Given the description of an element on the screen output the (x, y) to click on. 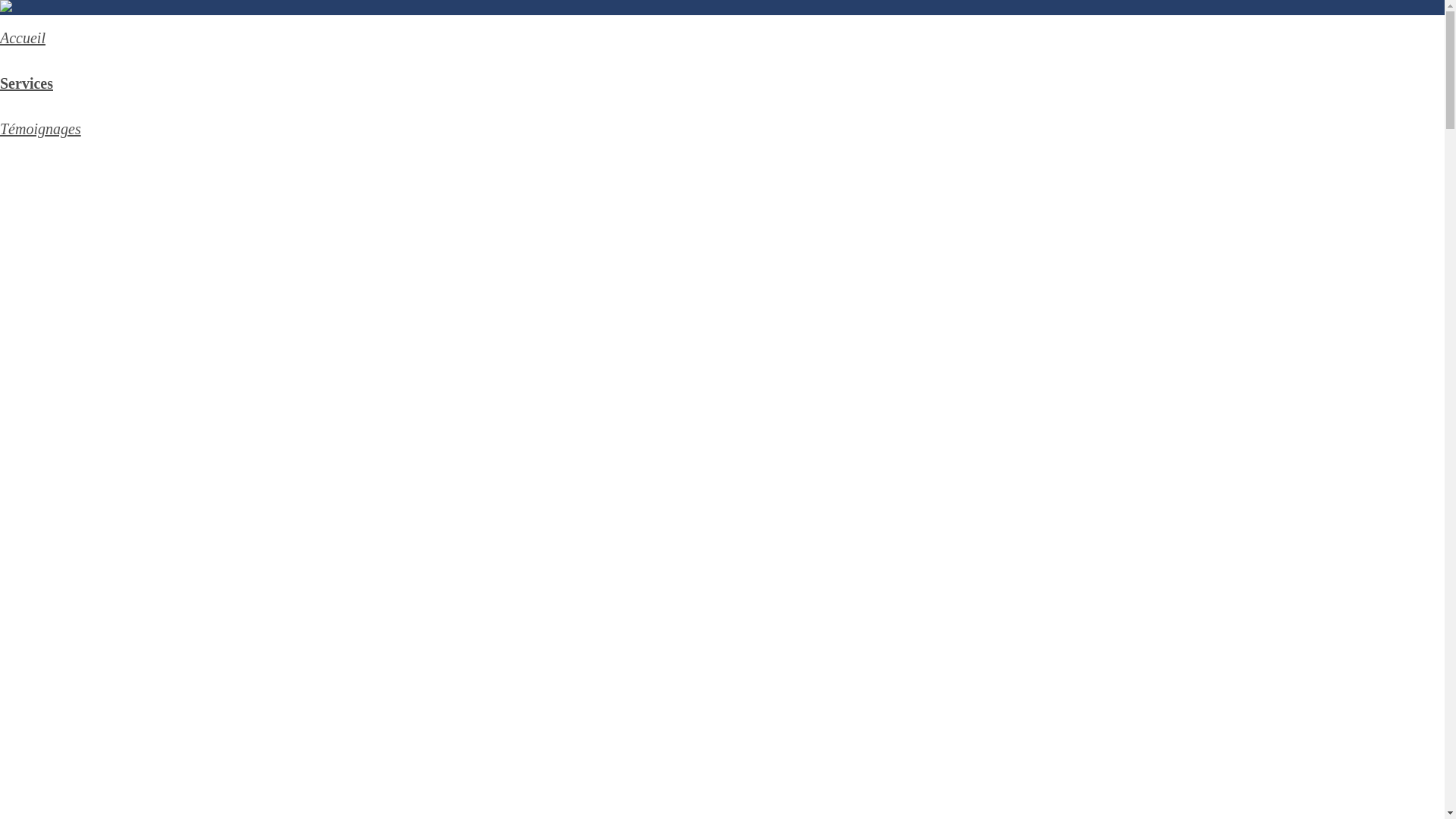
Services Element type: text (26, 83)
Accueil Element type: text (22, 37)
